Given the description of an element on the screen output the (x, y) to click on. 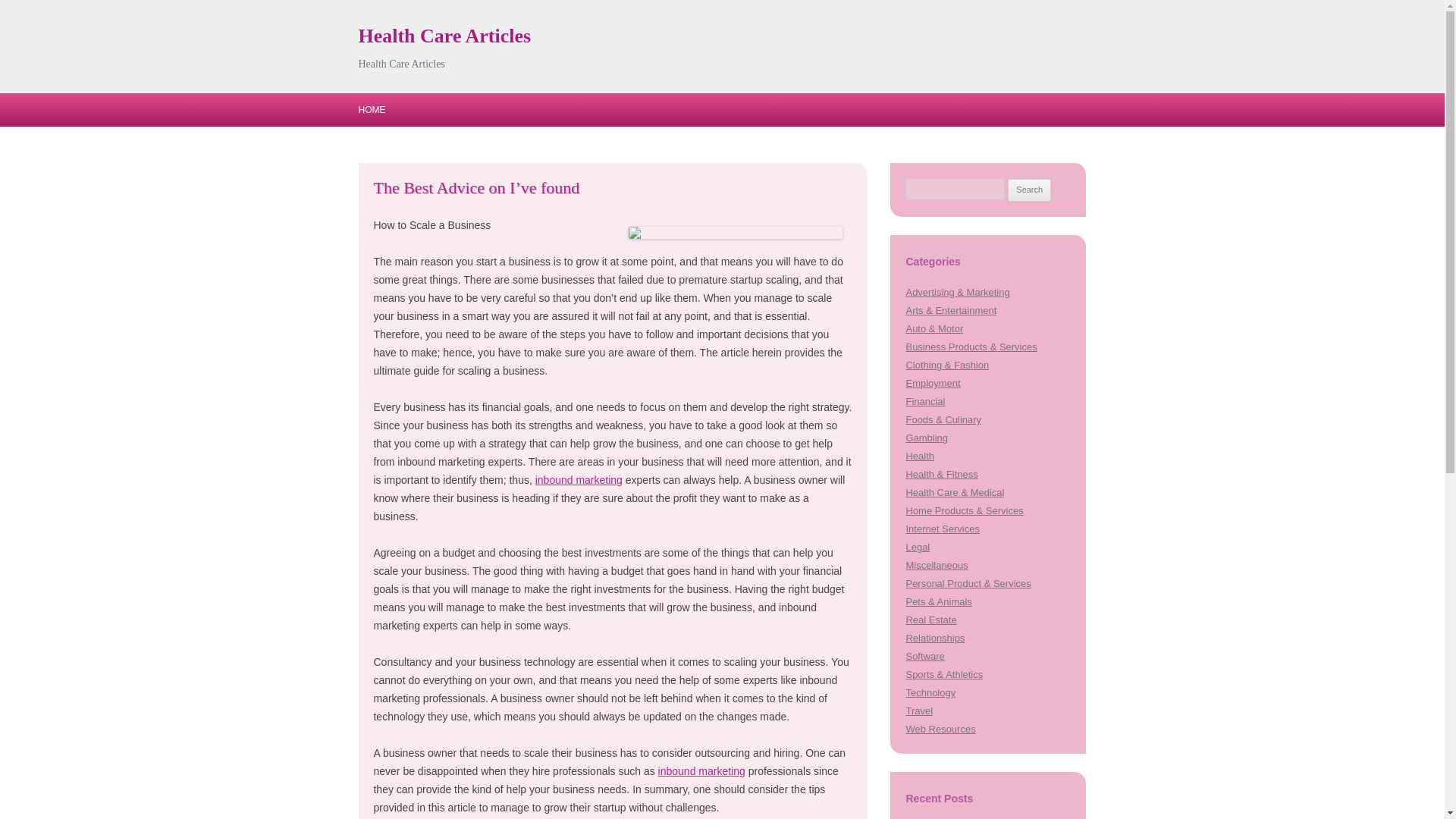
Health Care Articles (444, 36)
Search (1029, 190)
inbound marketing (701, 770)
Miscellaneous (936, 564)
Employment (932, 383)
Technology (930, 692)
Legal (917, 546)
Web Resources (940, 728)
Health (919, 455)
Search (1029, 190)
inbound marketing (579, 480)
Health Care Articles (444, 36)
Internet Services (941, 528)
Software (924, 655)
